Given the description of an element on the screen output the (x, y) to click on. 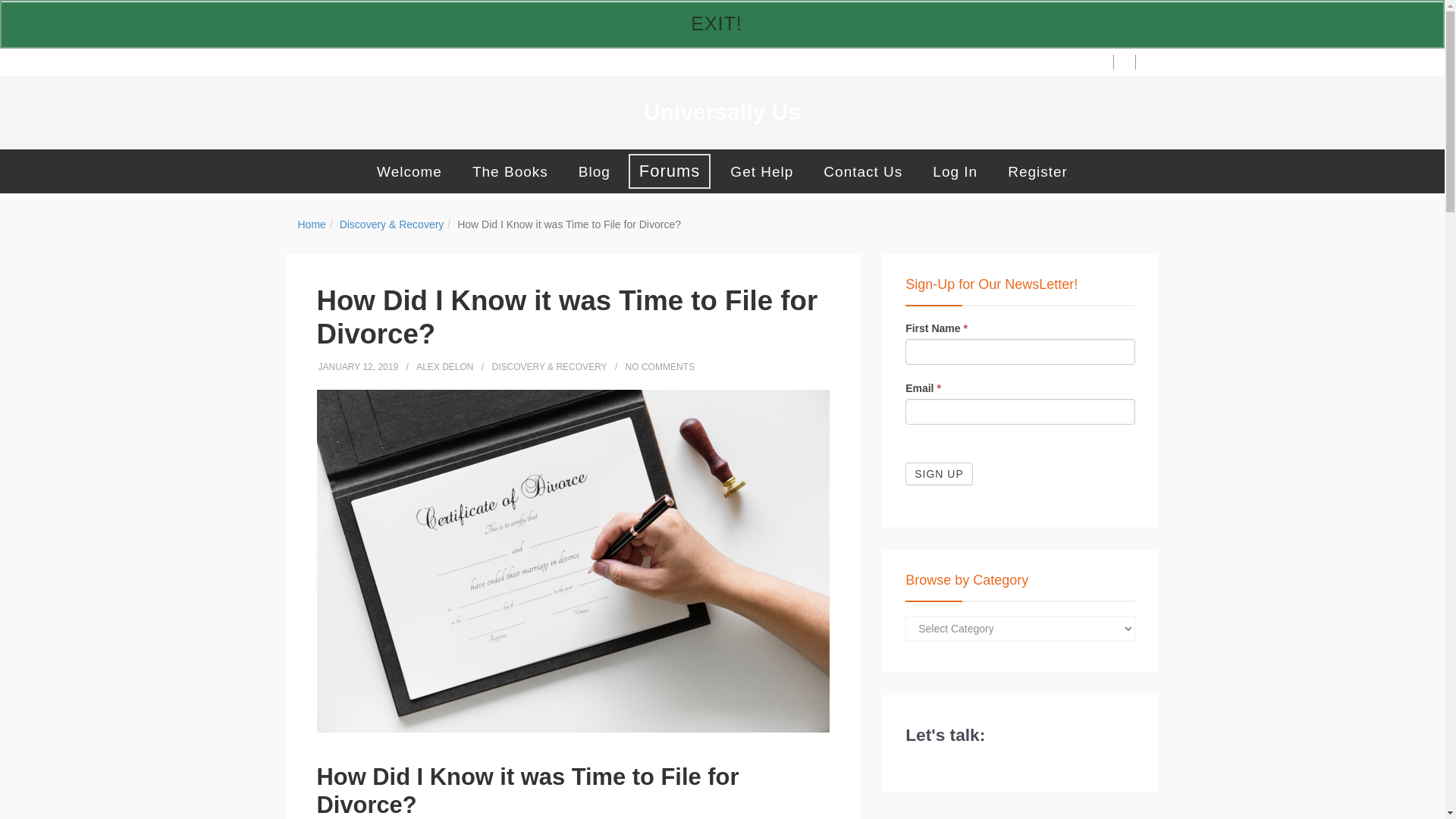
View all posts by Alex Delon (444, 366)
Contact Us (862, 171)
Universally Us (722, 112)
Log In (954, 171)
ALEX DELON (444, 366)
The Books (510, 171)
NO COMMENTS (660, 366)
Welcome (409, 171)
Register (1037, 171)
Forums (669, 171)
Get Help (761, 171)
Home (310, 224)
Home (310, 224)
Blog (593, 171)
